Given the description of an element on the screen output the (x, y) to click on. 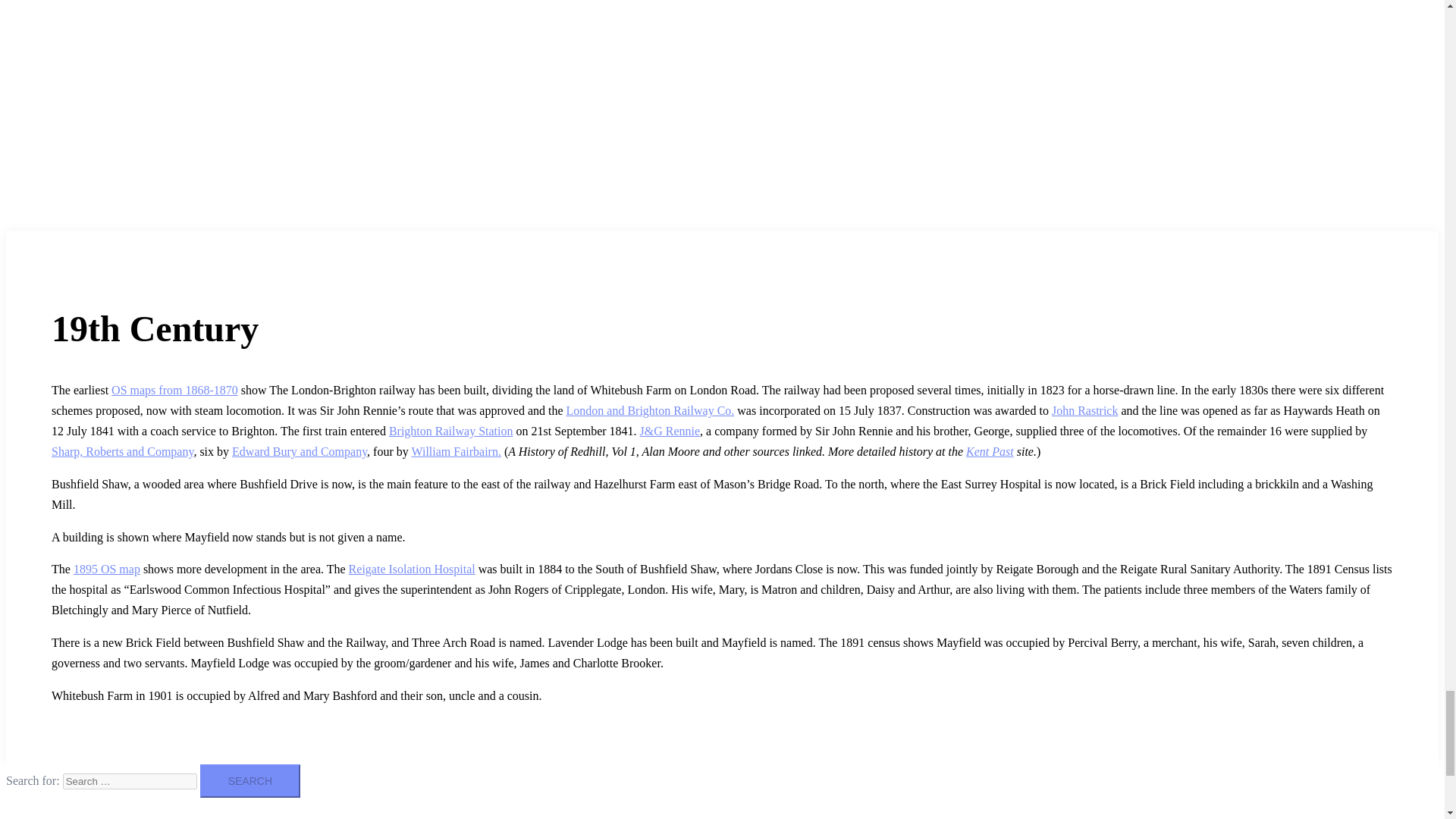
Kent Past (989, 451)
London and Brighton Railway Co. (650, 410)
1895 OS map (106, 568)
Edward Bury and Company (298, 451)
Search (249, 780)
OS maps from 1868-1870 (175, 390)
Sharp, Roberts and Company (121, 451)
William Fairbairn (455, 451)
Reigate Isolation Hospital (412, 568)
Sharp, Roberts and Company (121, 451)
